Given the description of an element on the screen output the (x, y) to click on. 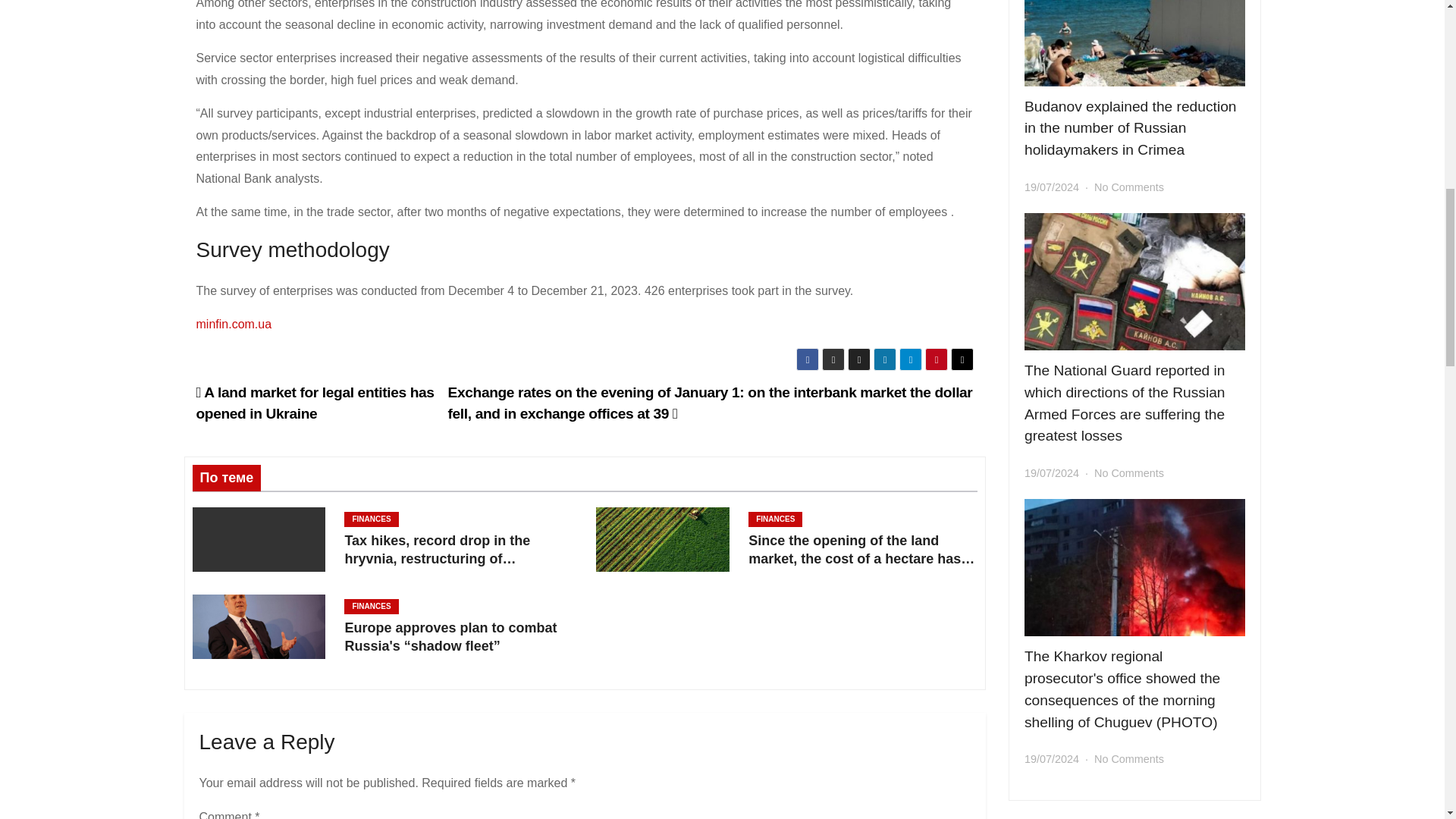
minfin.com.ua (232, 323)
